Given the description of an element on the screen output the (x, y) to click on. 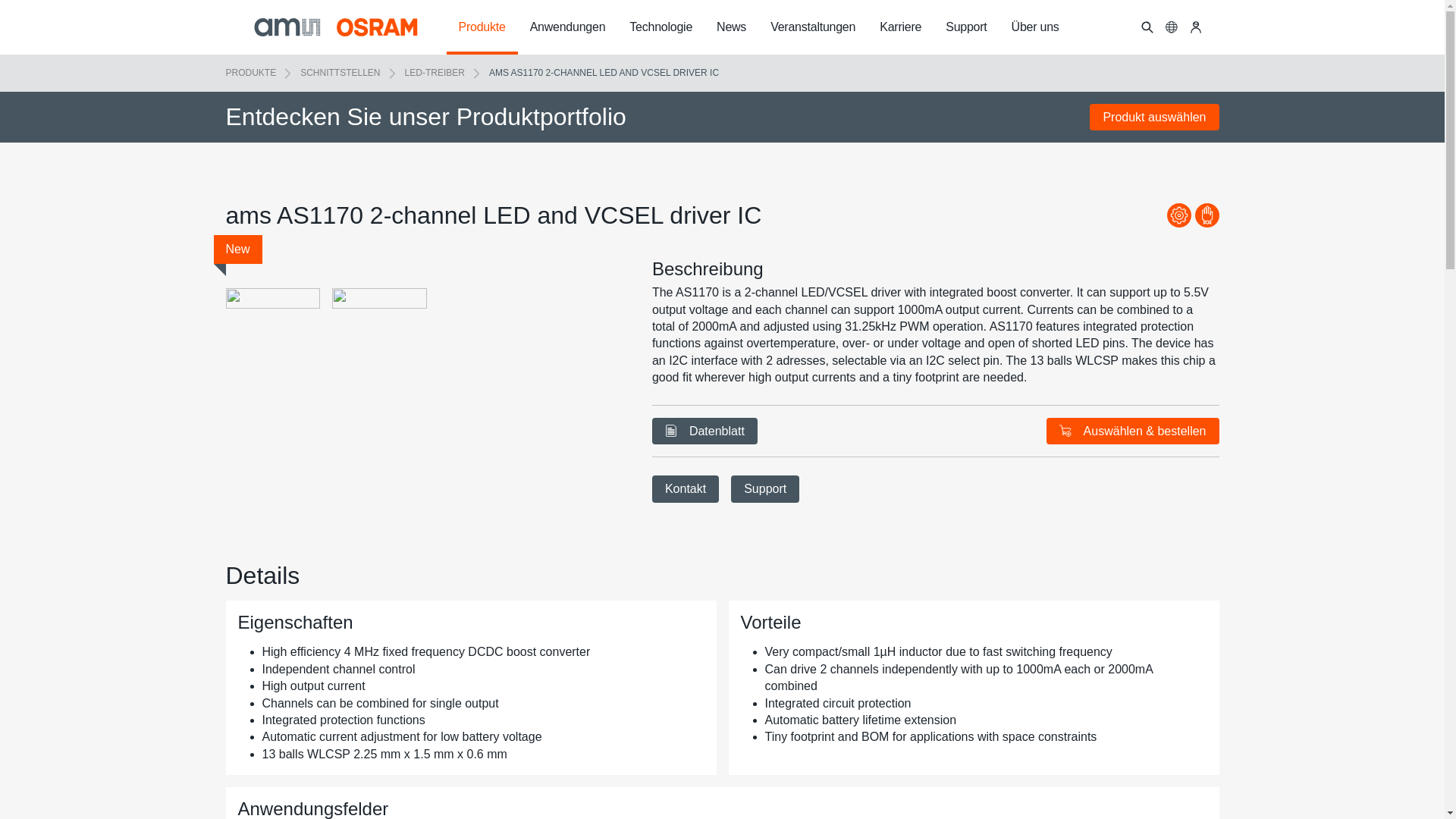
Industrie (1179, 215)
Produkte (480, 27)
